Given the description of an element on the screen output the (x, y) to click on. 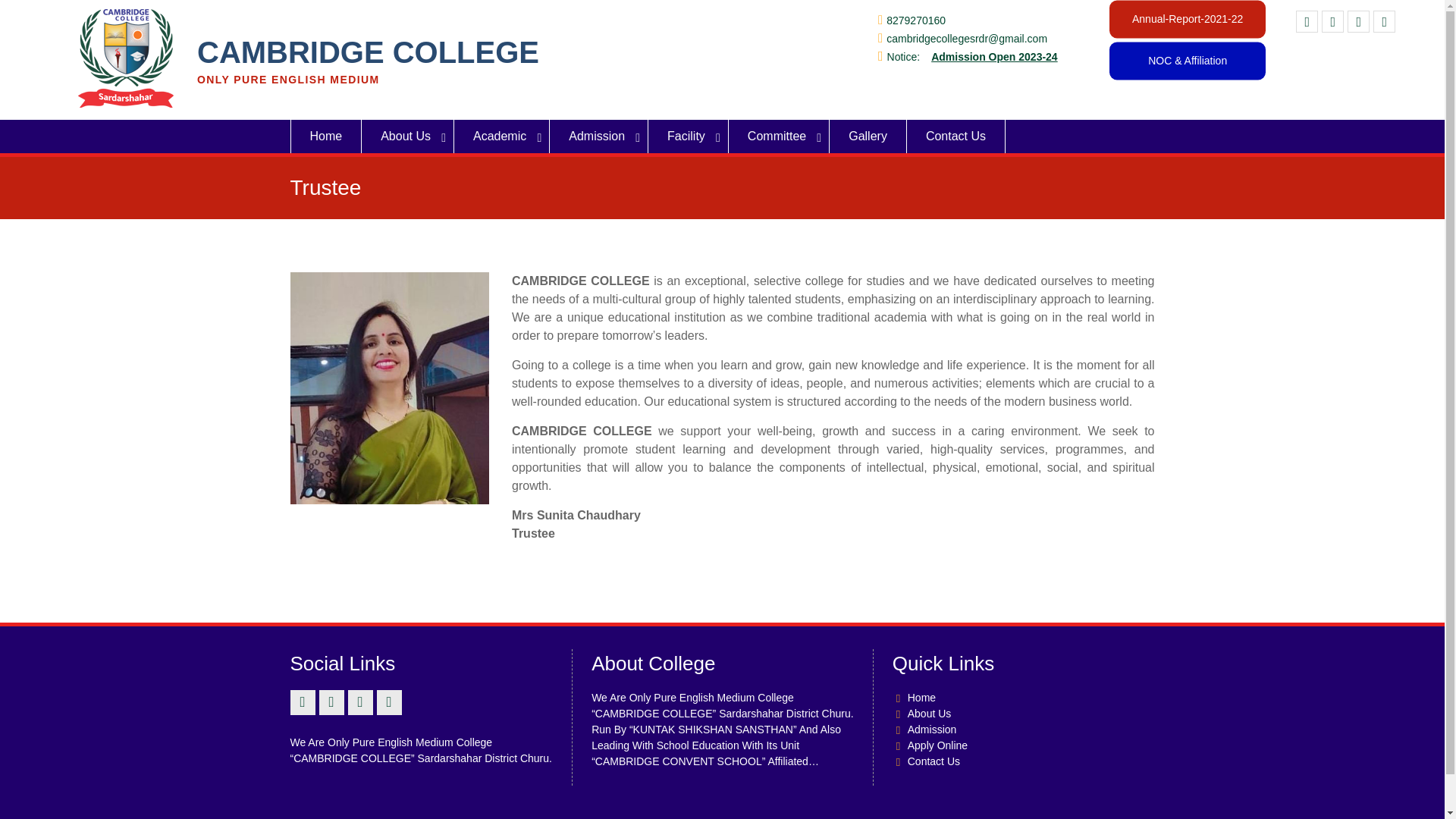
Committee (779, 136)
Facility (688, 136)
twitter (1332, 21)
Admission (598, 136)
About Us (407, 136)
Facebook (1306, 21)
CAMBRIDGE COLLEGE (367, 52)
youtube (1359, 21)
yahoo (1383, 21)
8279270160 (915, 20)
Annual-Report-2021-22 (1187, 18)
Home (325, 136)
Admission Open 2023-24 (994, 56)
Academic (502, 136)
